Given the description of an element on the screen output the (x, y) to click on. 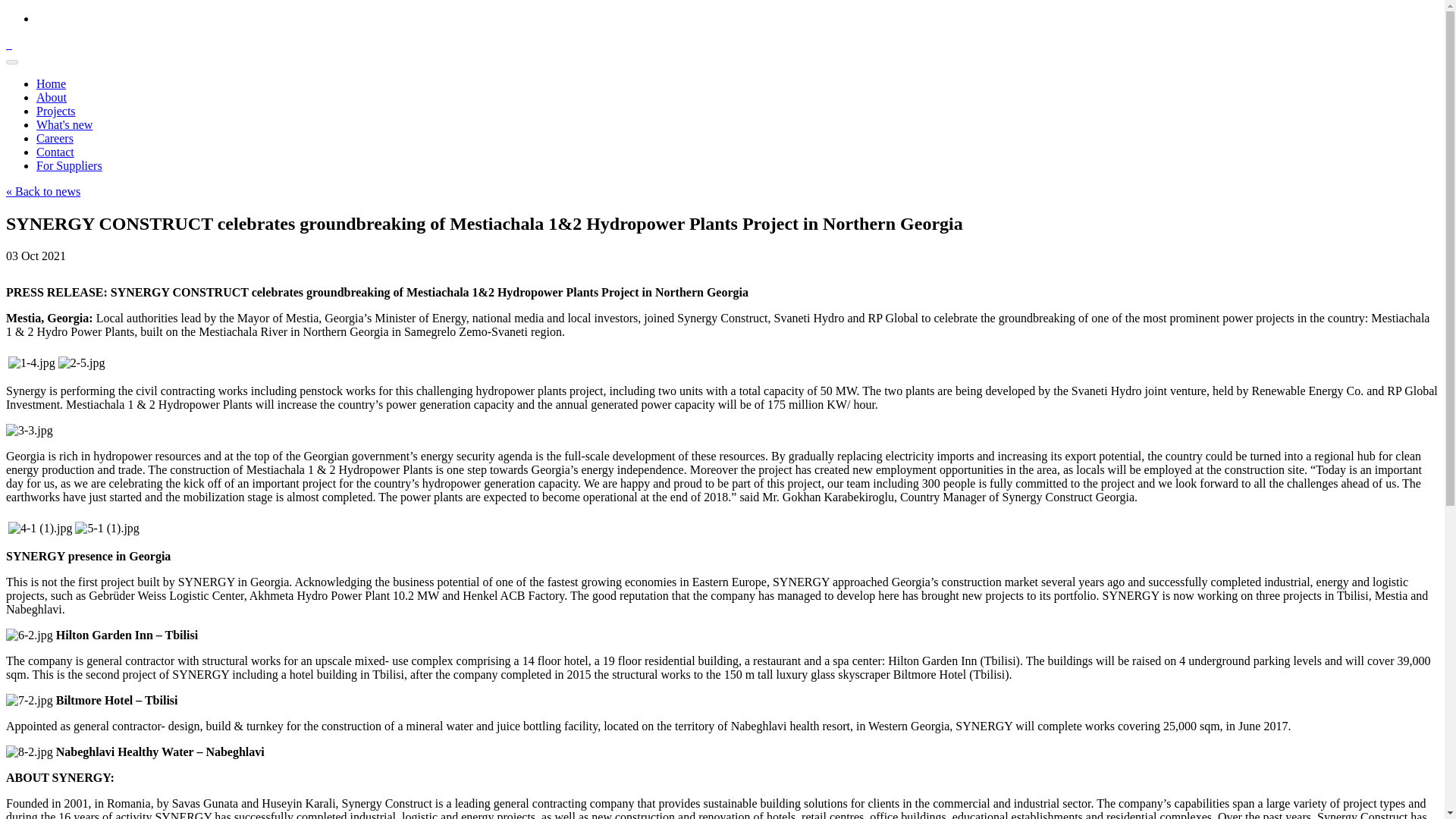
Projects (55, 110)
About (51, 97)
Contact (55, 151)
For Suppliers (68, 164)
Home (50, 83)
What's new (64, 124)
Careers (55, 137)
